Given the description of an element on the screen output the (x, y) to click on. 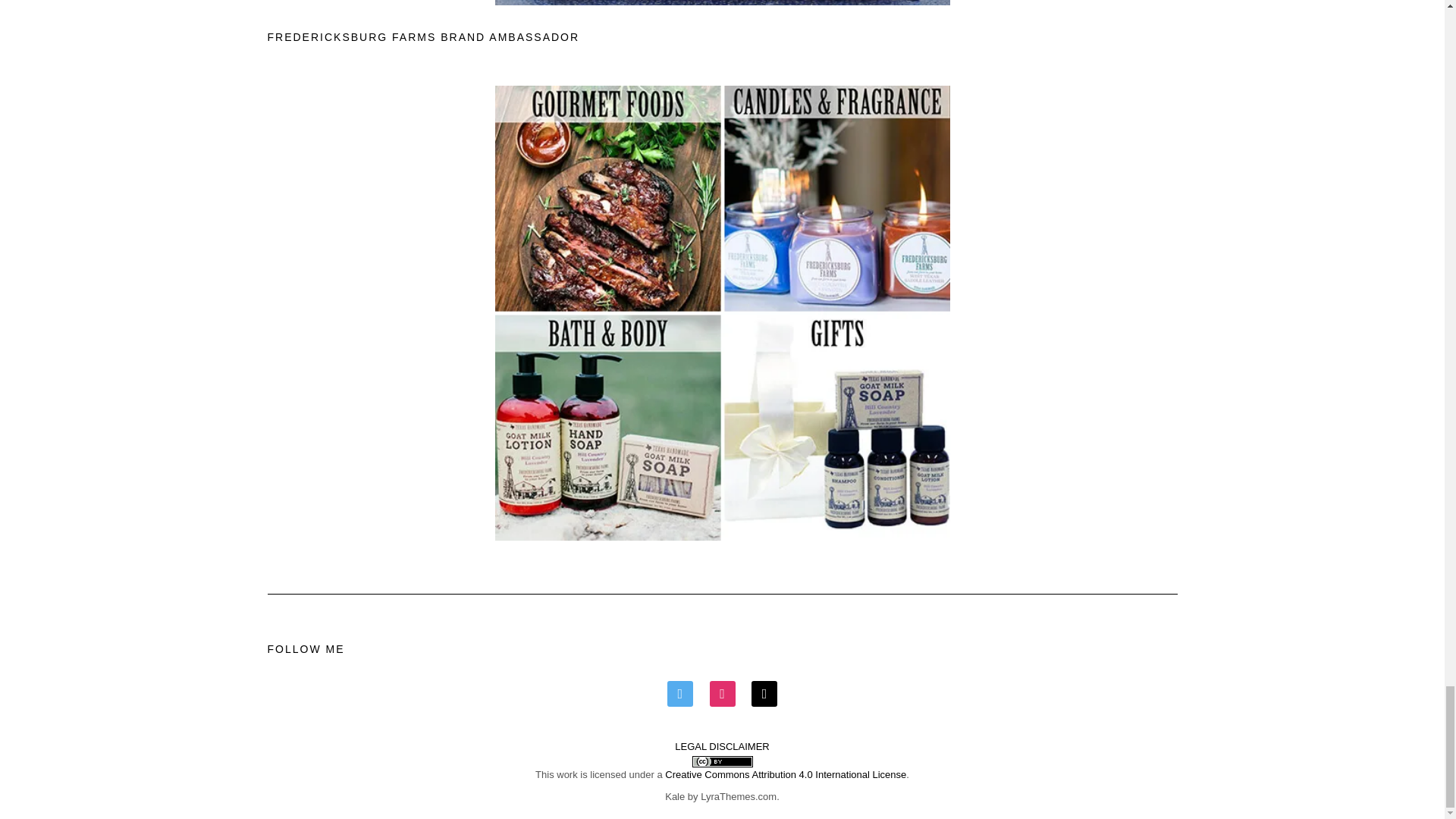
Instagram (722, 692)
Default Label (764, 692)
Twitter (679, 692)
